Given the description of an element on the screen output the (x, y) to click on. 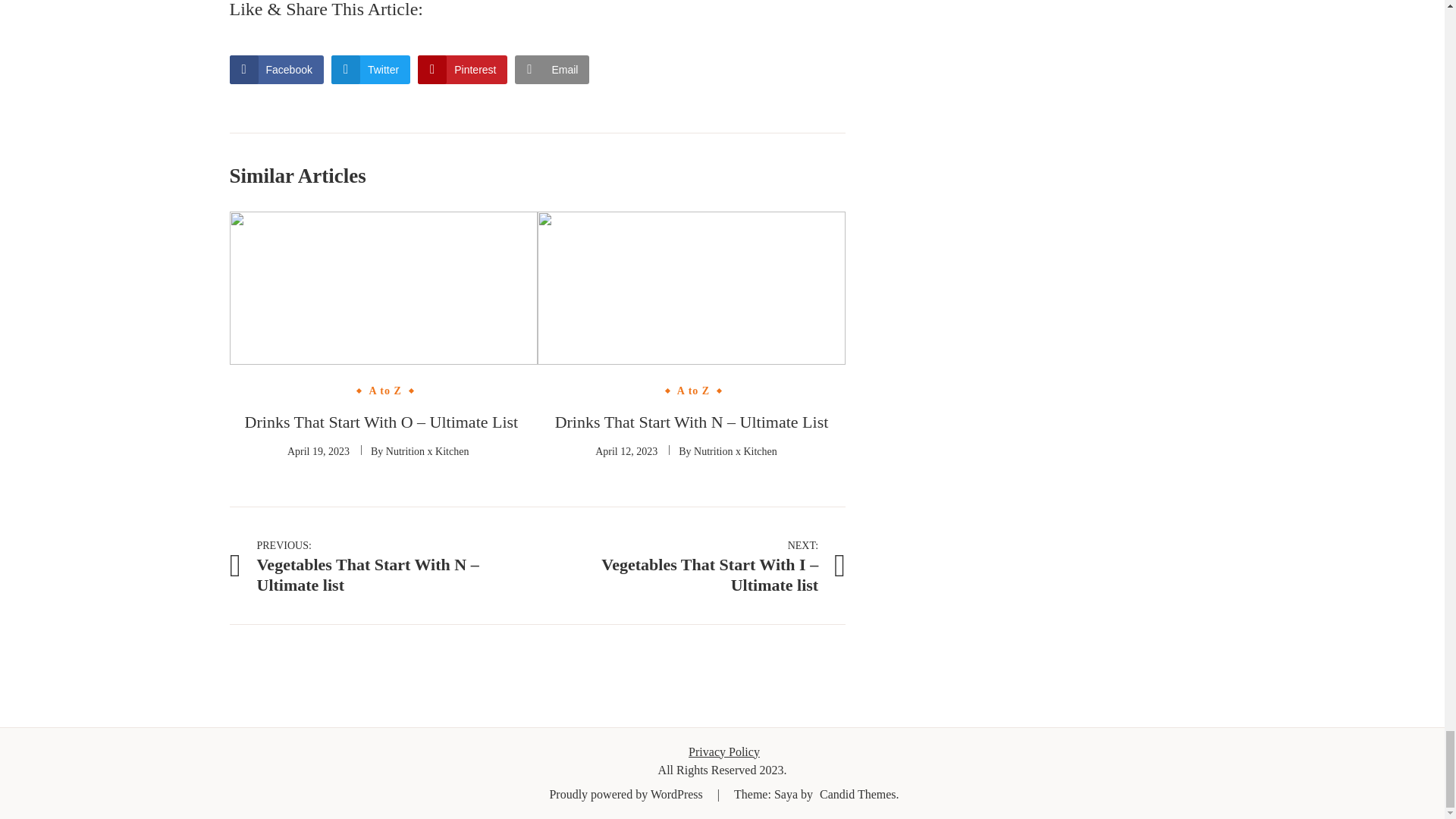
Pinterest (461, 69)
April 12, 2023 (626, 451)
April 19, 2023 (317, 451)
Facebook (275, 69)
Email (552, 69)
A to Z (384, 390)
Twitter (370, 69)
A to Z (692, 390)
Nutrition x Kitchen (426, 451)
Nutrition x Kitchen (735, 451)
